Given the description of an element on the screen output the (x, y) to click on. 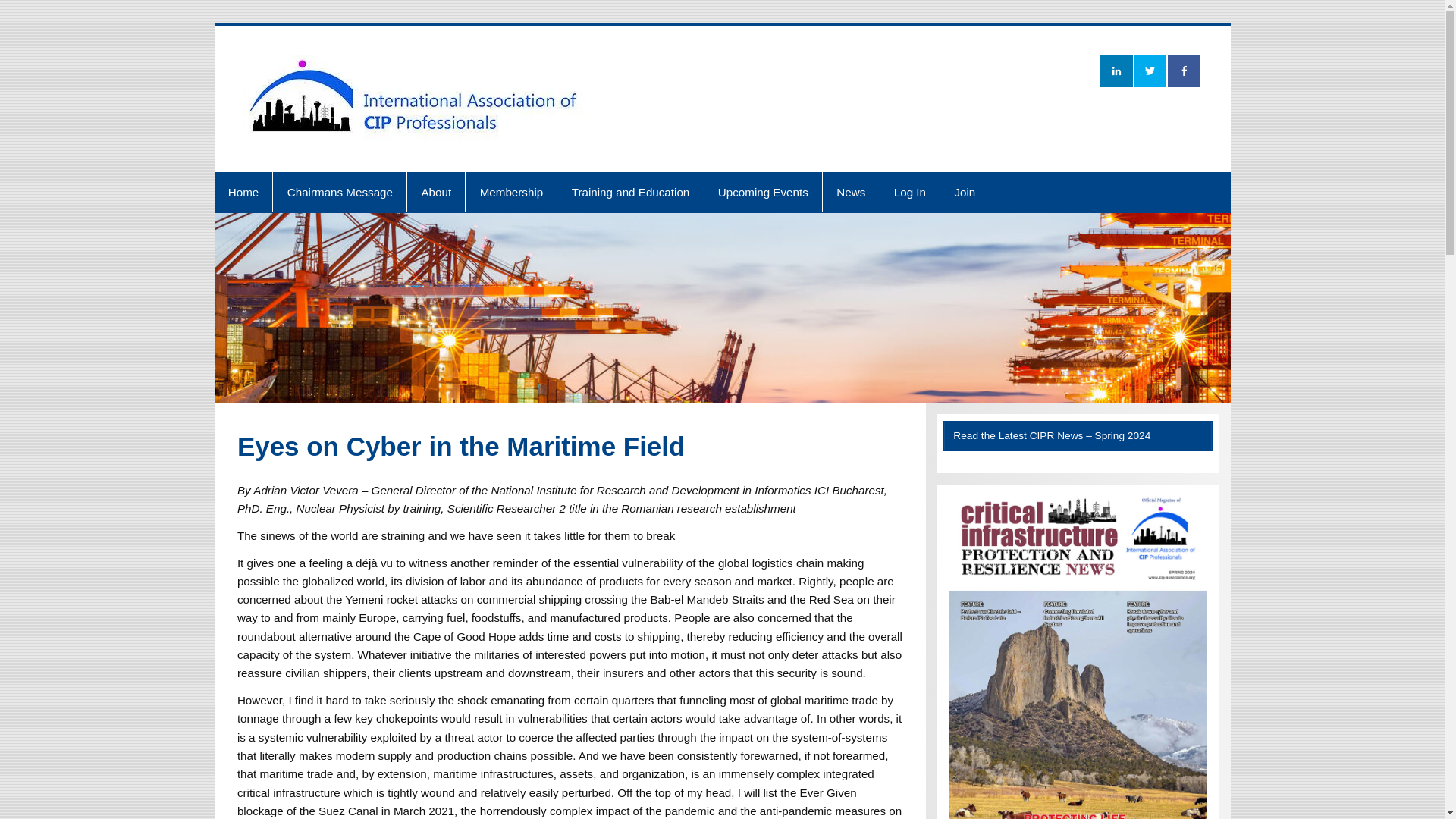
Chairmans Message (339, 191)
Log In (909, 191)
About (435, 191)
Home (243, 191)
International Association of CIP Professionals (1098, 69)
Training and Education (630, 191)
News (850, 191)
Upcoming Events (763, 191)
Join (964, 191)
Membership (510, 191)
